Given the description of an element on the screen output the (x, y) to click on. 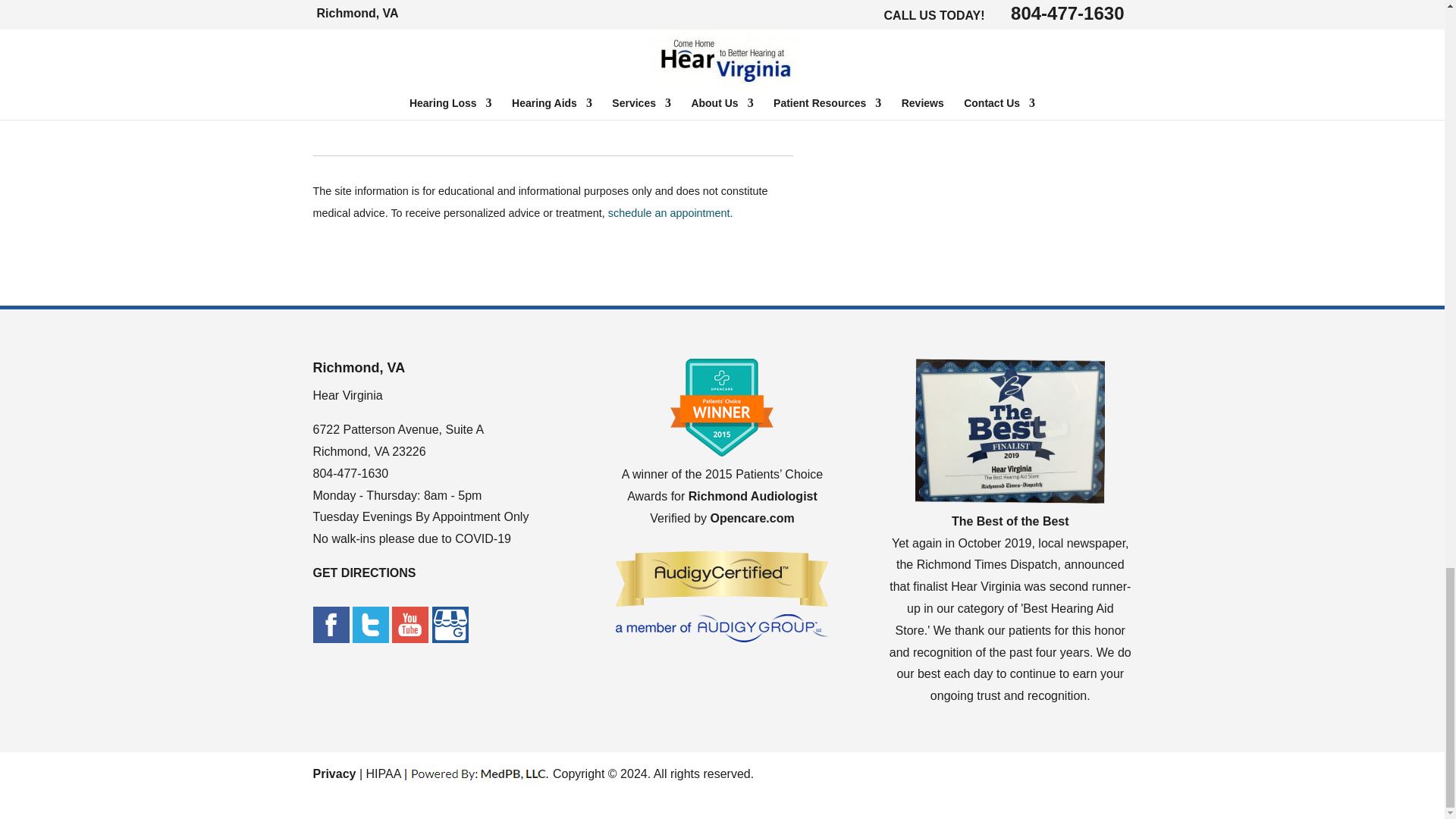
MedPB: Medical Practice Building, Marketing, Websites (479, 773)
